Given the description of an element on the screen output the (x, y) to click on. 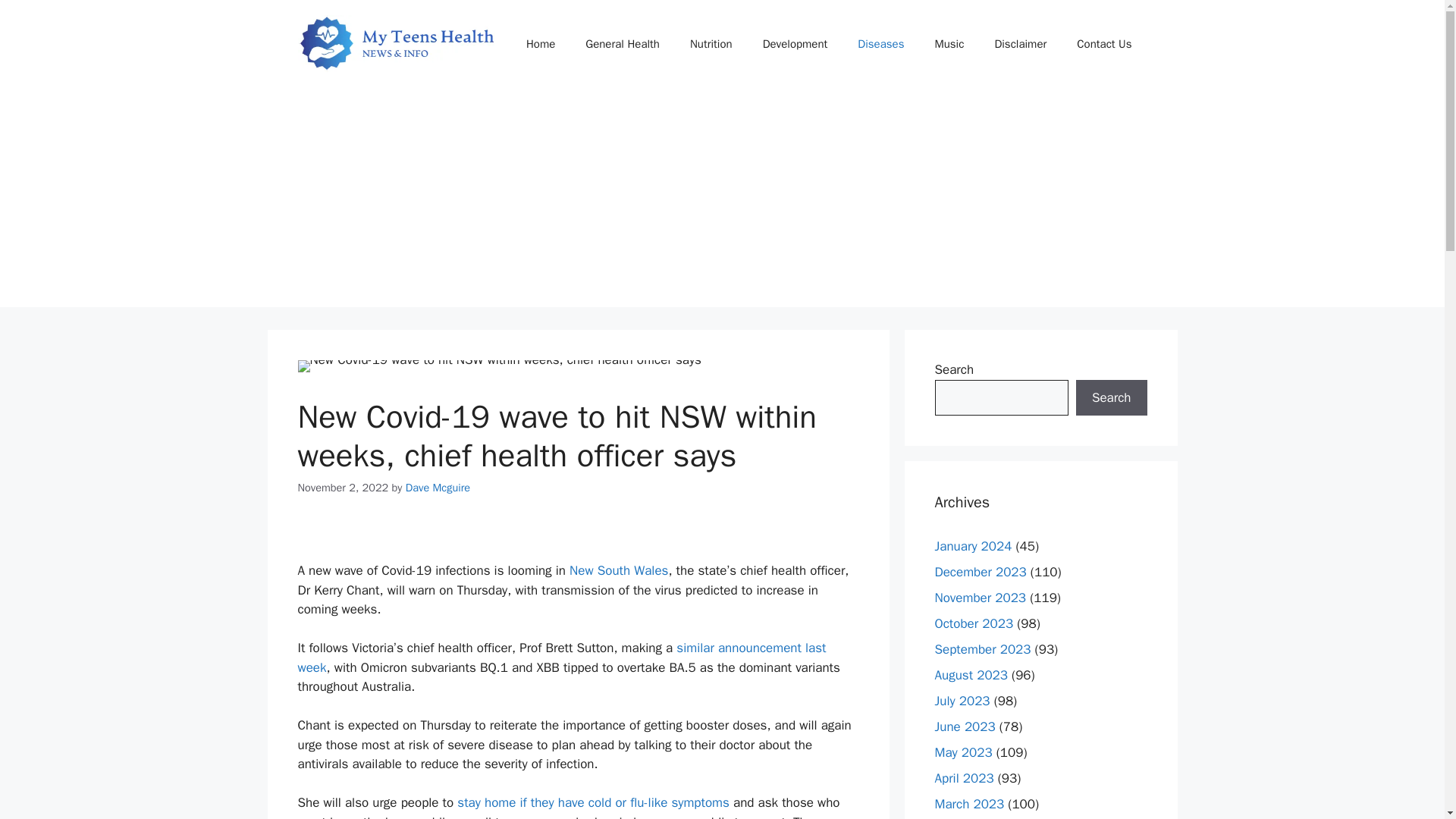
Search (1111, 398)
Nutrition (711, 43)
Diseases (880, 43)
December 2023 (980, 571)
Development (795, 43)
Disclaimer (1019, 43)
View all posts by Dave Mcguire (438, 487)
similar announcement last week (561, 657)
stay home if they have cold or flu-like symptoms (593, 802)
October 2023 (973, 623)
Dave Mcguire (438, 487)
Contact Us (1104, 43)
September 2023 (982, 649)
November 2023 (980, 597)
